Given the description of an element on the screen output the (x, y) to click on. 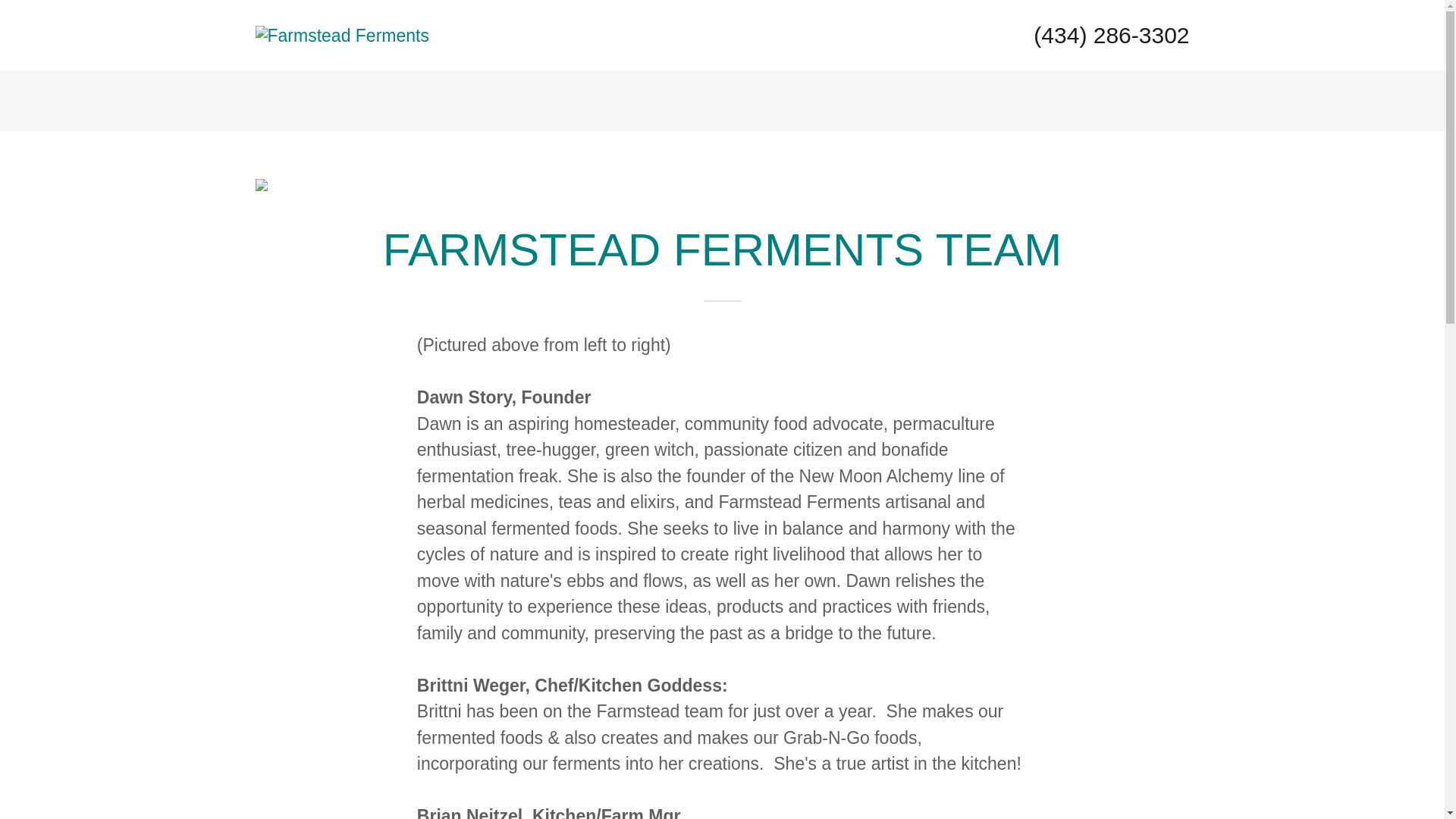
Farmstead Ferments (341, 34)
